Given the description of an element on the screen output the (x, y) to click on. 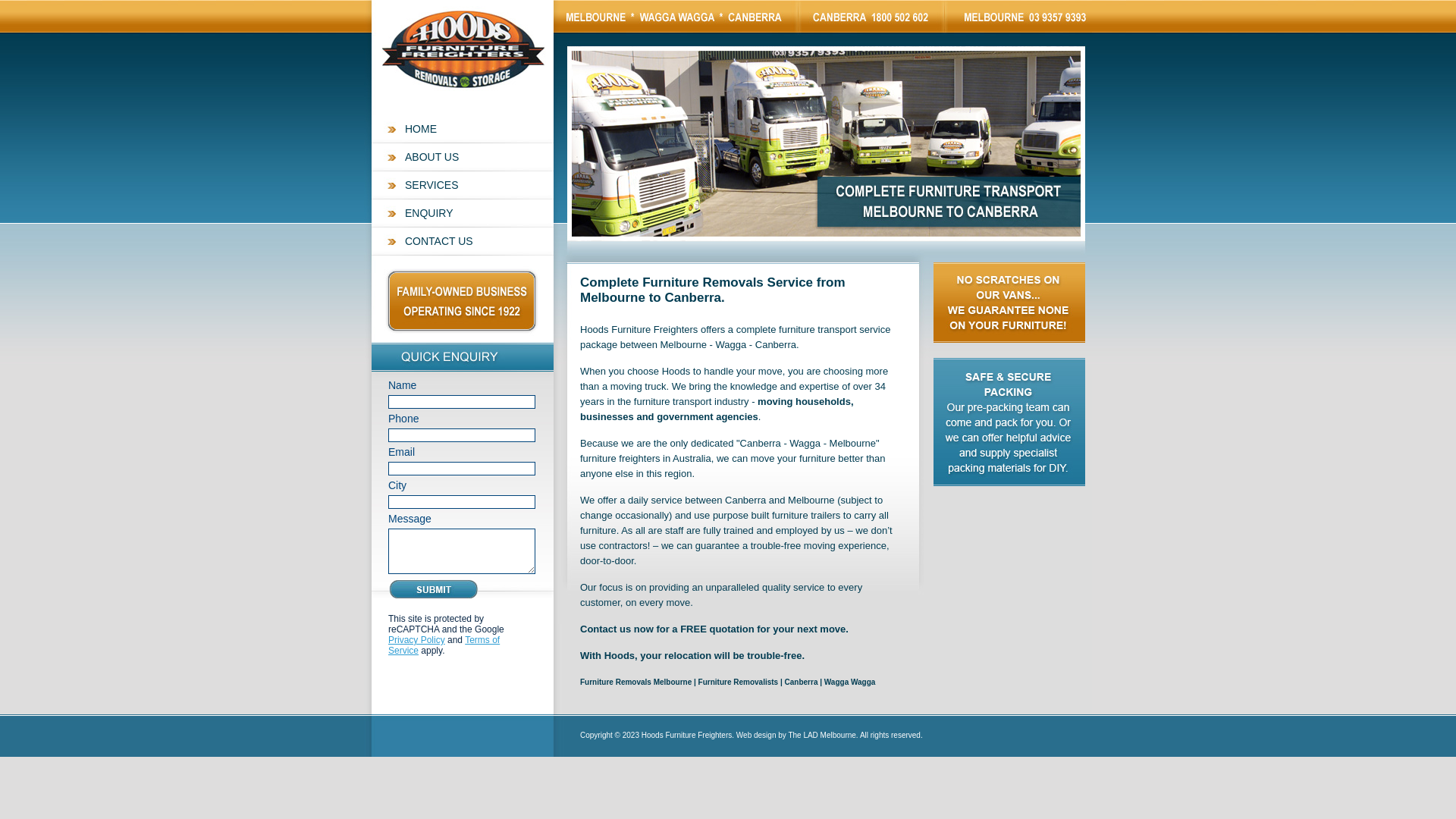
ABOUT US Element type: text (462, 157)
HOME Element type: text (462, 129)
ENQUIRY Element type: text (462, 213)
CONTACT US Element type: text (462, 241)
SERVICES Element type: text (462, 185)
Web design by The LAD Melbourne. Element type: text (797, 735)
Privacy Policy Element type: text (416, 639)
Terms of Service Element type: text (443, 644)
